Given the description of an element on the screen output the (x, y) to click on. 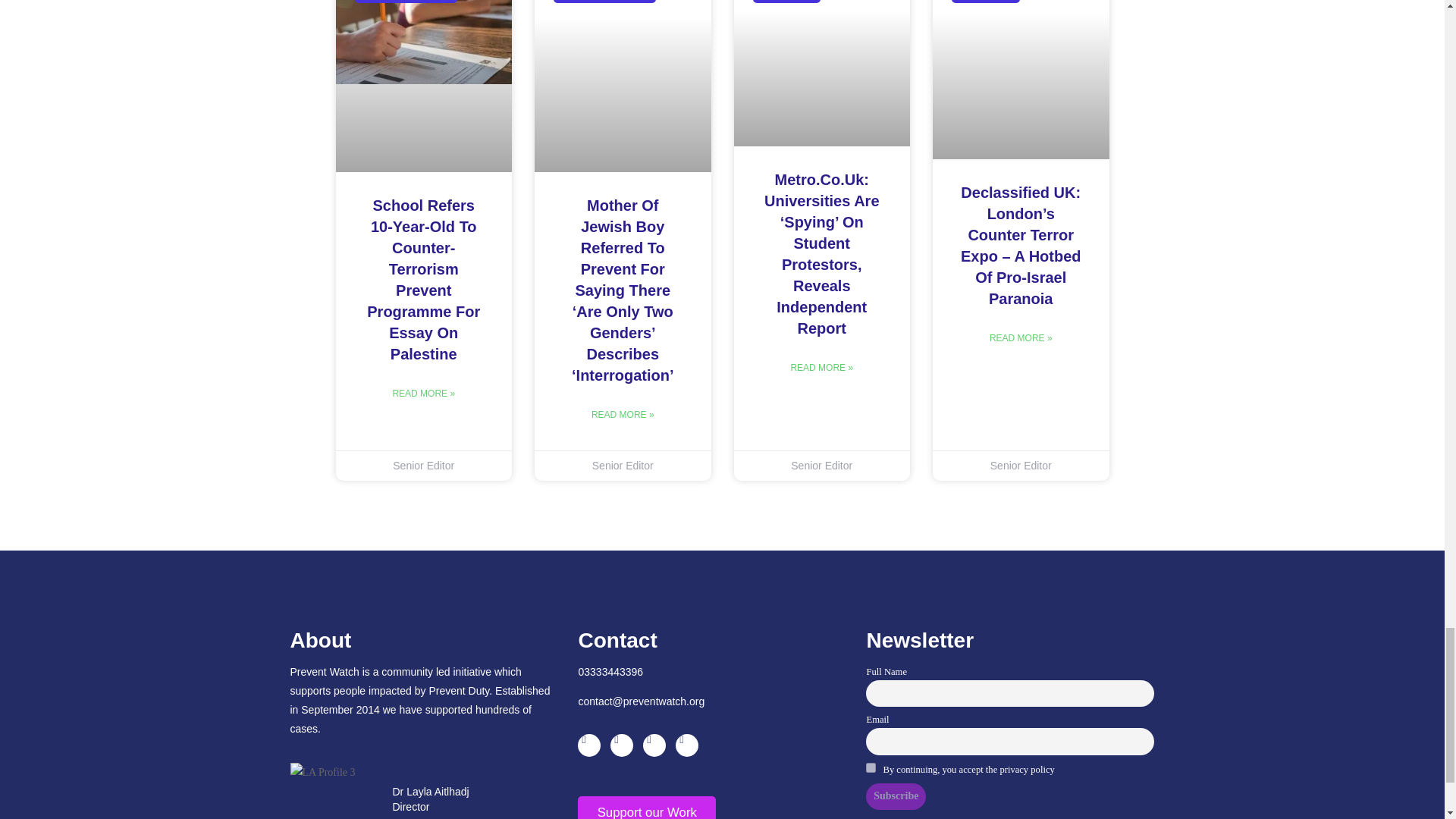
LA Profile 3 (322, 772)
on (871, 767)
Subscribe (896, 796)
